Given the description of an element on the screen output the (x, y) to click on. 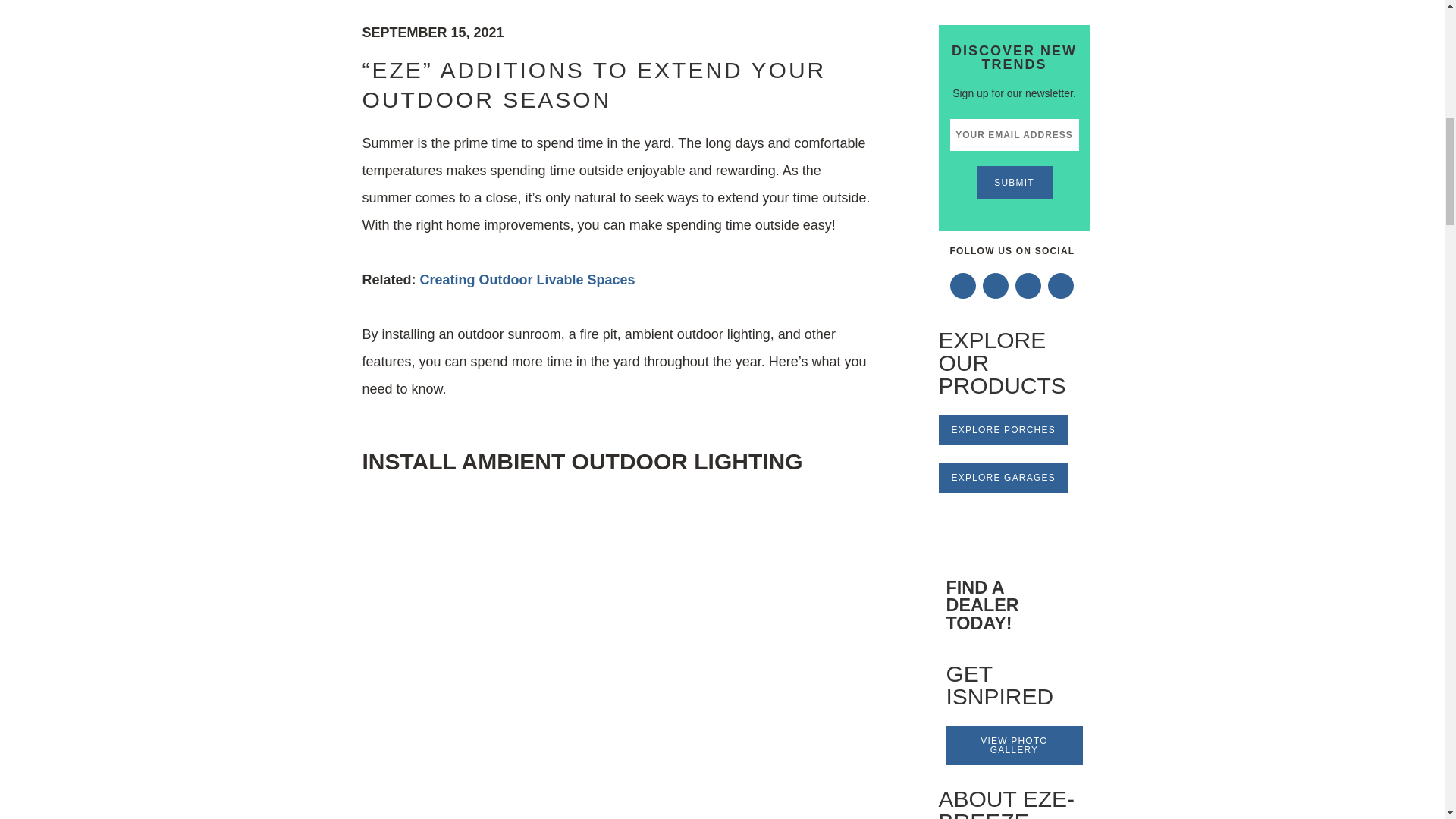
Submit (1014, 182)
Submit (1014, 182)
Creating Outdoor Livable Spaces (527, 279)
